Given the description of an element on the screen output the (x, y) to click on. 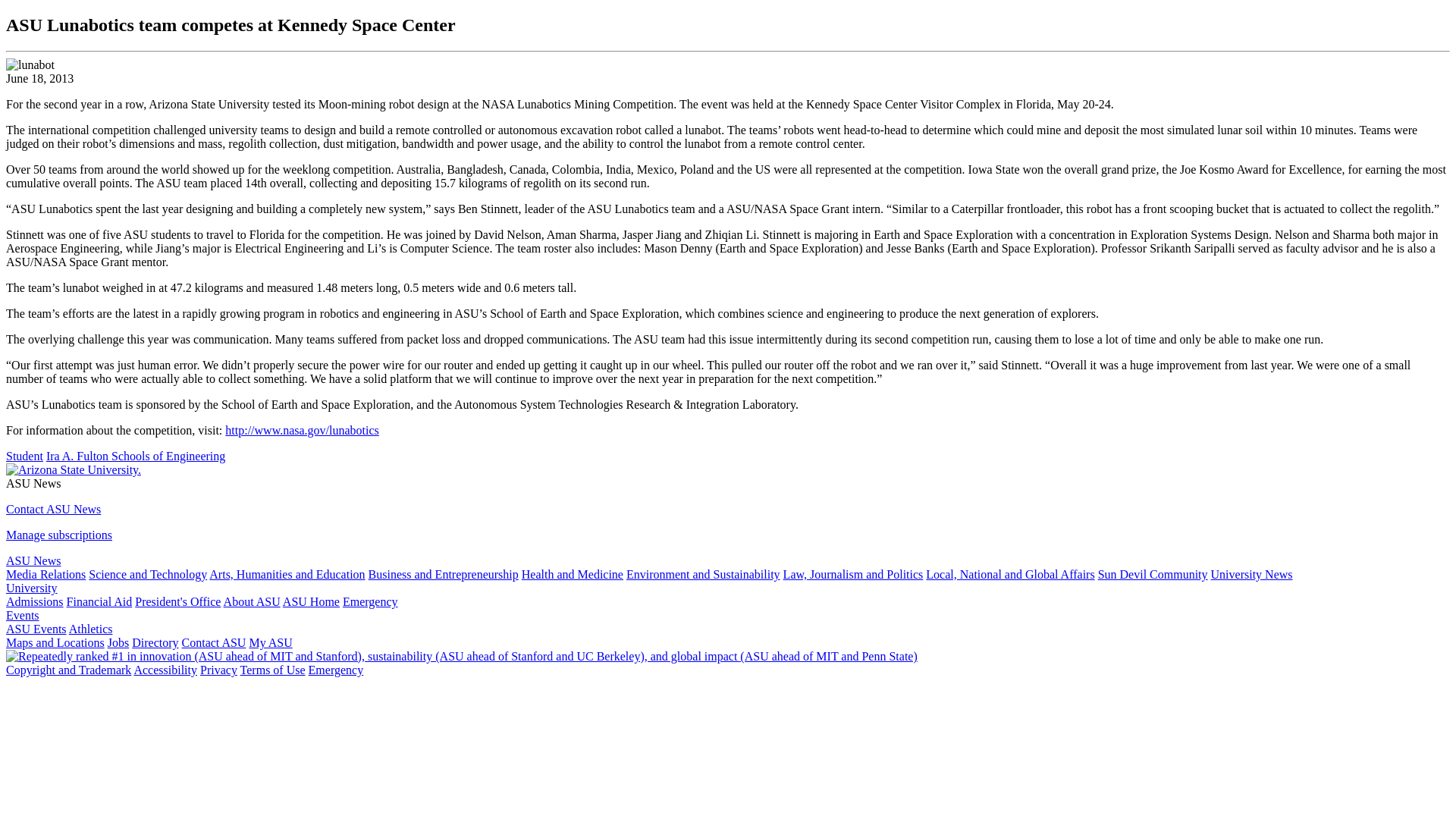
President's Office (178, 601)
ASU Events (35, 628)
Environment and Sustainability (703, 574)
University News (1251, 574)
Emergency (369, 601)
Science and Technology (147, 574)
Law, Journalism and Politics (853, 574)
Jobs (118, 642)
Media Relations (45, 574)
Contact ASU (214, 642)
